Given the description of an element on the screen output the (x, y) to click on. 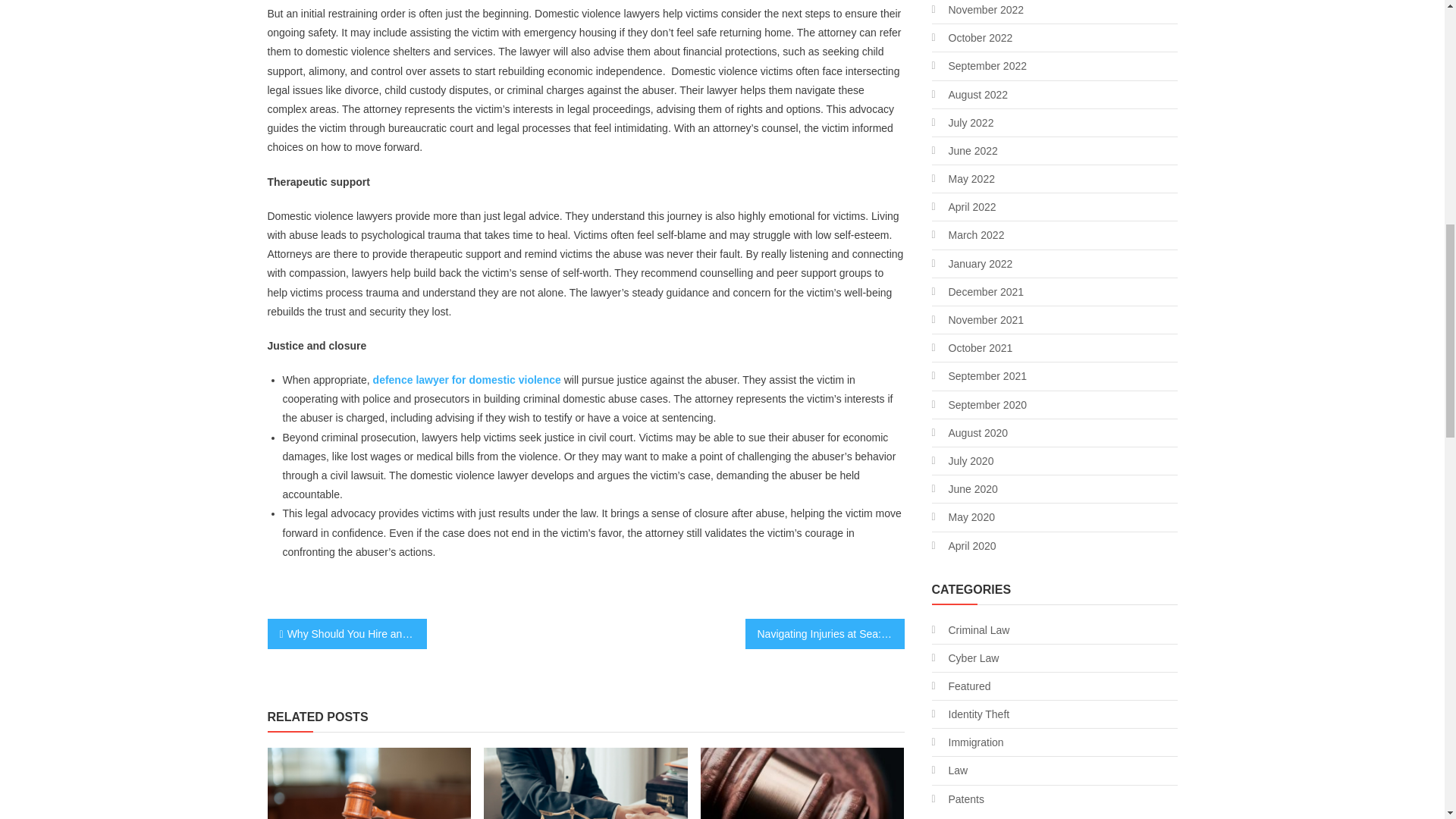
defence lawyer for domestic violence (466, 379)
Navigating Injuries at Sea: Legal Rights and Remedies (824, 634)
